Given the description of an element on the screen output the (x, y) to click on. 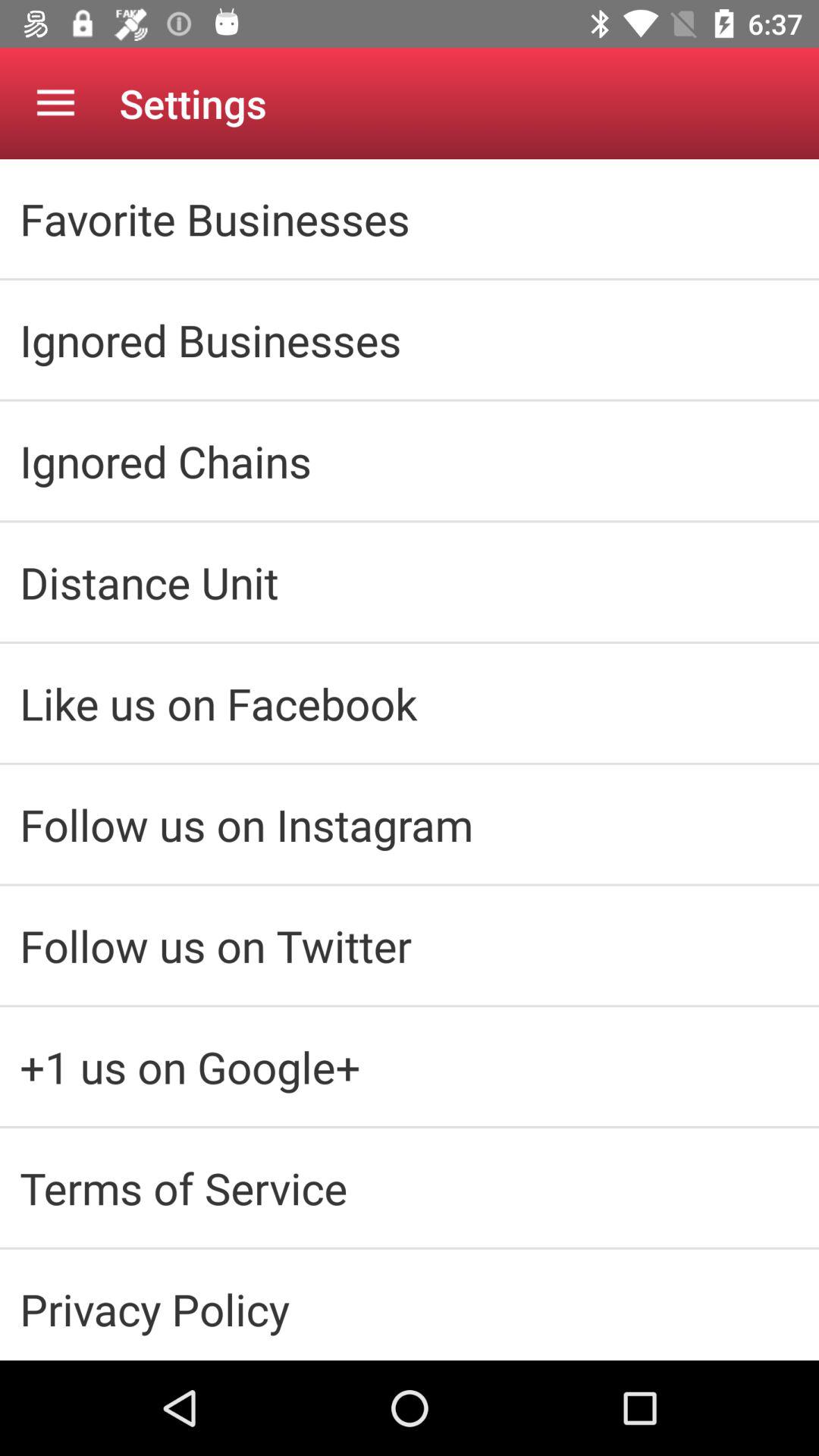
launch the favorite businesses (409, 218)
